Given the description of an element on the screen output the (x, y) to click on. 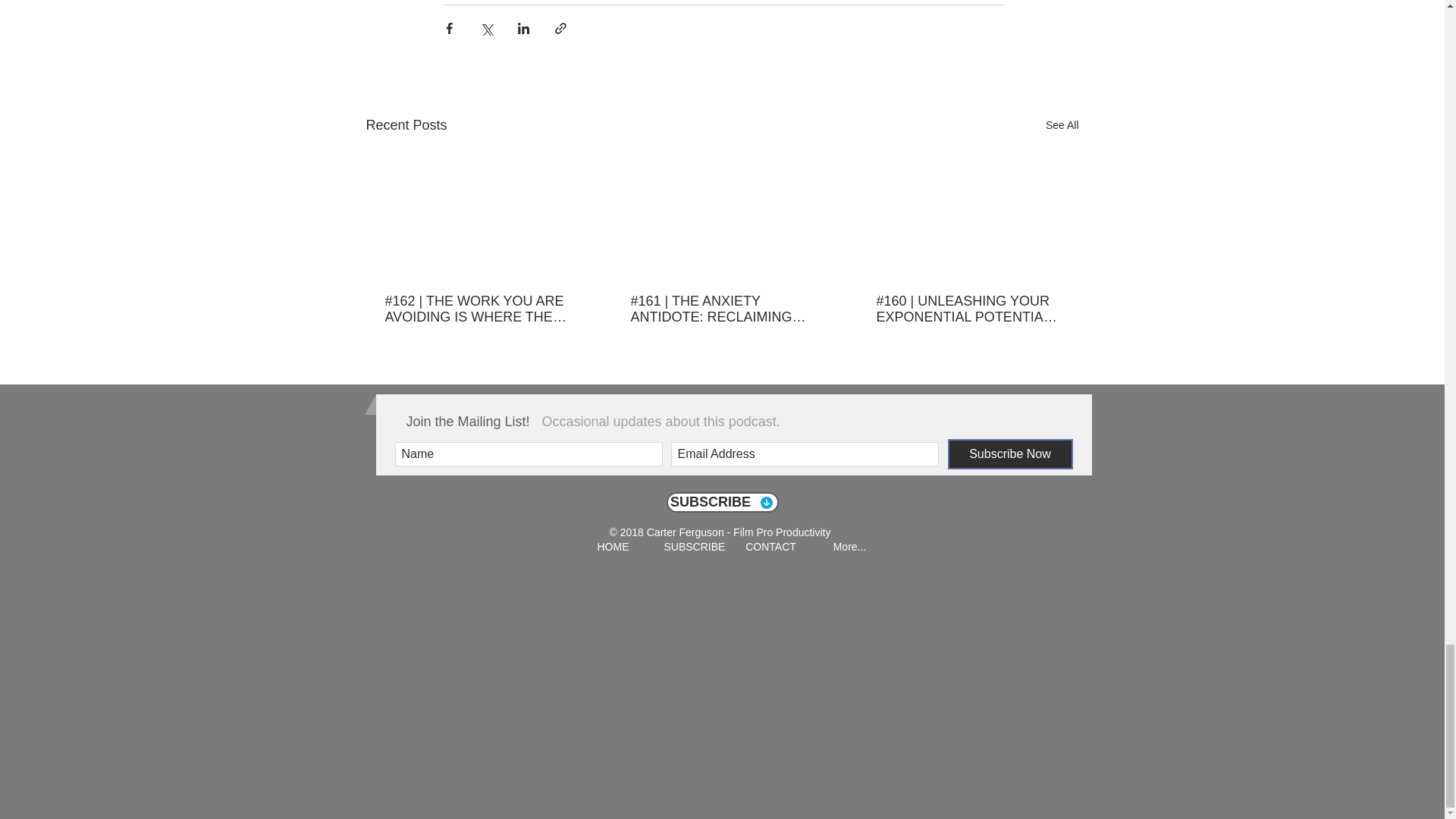
SUBSCRIBE (691, 547)
See All (1061, 125)
SUBSCRIBE (721, 502)
CONTACT (769, 547)
Subscribe Now (1010, 453)
HOME (612, 547)
